Given the description of an element on the screen output the (x, y) to click on. 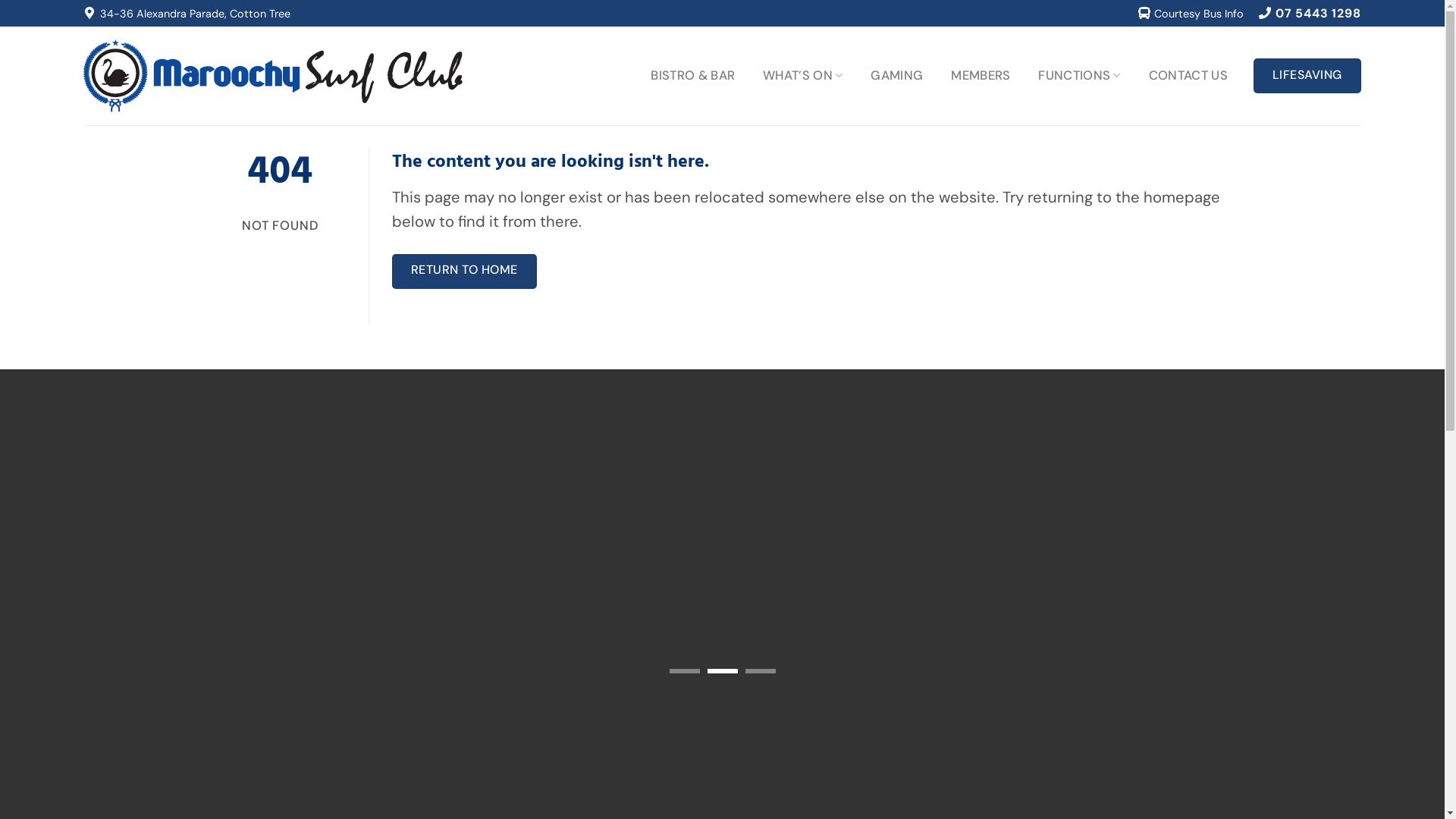
RETURN TO HOME Element type: text (464, 271)
Courtesy Bus Info Element type: text (1191, 13)
Skip to content Element type: text (0, 0)
34-36 Alexandra Parade, Cotton Tree Element type: text (186, 13)
GAMING Element type: text (896, 75)
LIFESAVING Element type: text (1307, 75)
07 5443 1298 Element type: text (1309, 13)
BISTRO & BAR Element type: text (692, 75)
CONTACT US Element type: text (1187, 75)
FUNCTIONS Element type: text (1079, 75)
MEMBERS Element type: text (980, 75)
Maroochy Surf Club Element type: hover (272, 75)
